Given the description of an element on the screen output the (x, y) to click on. 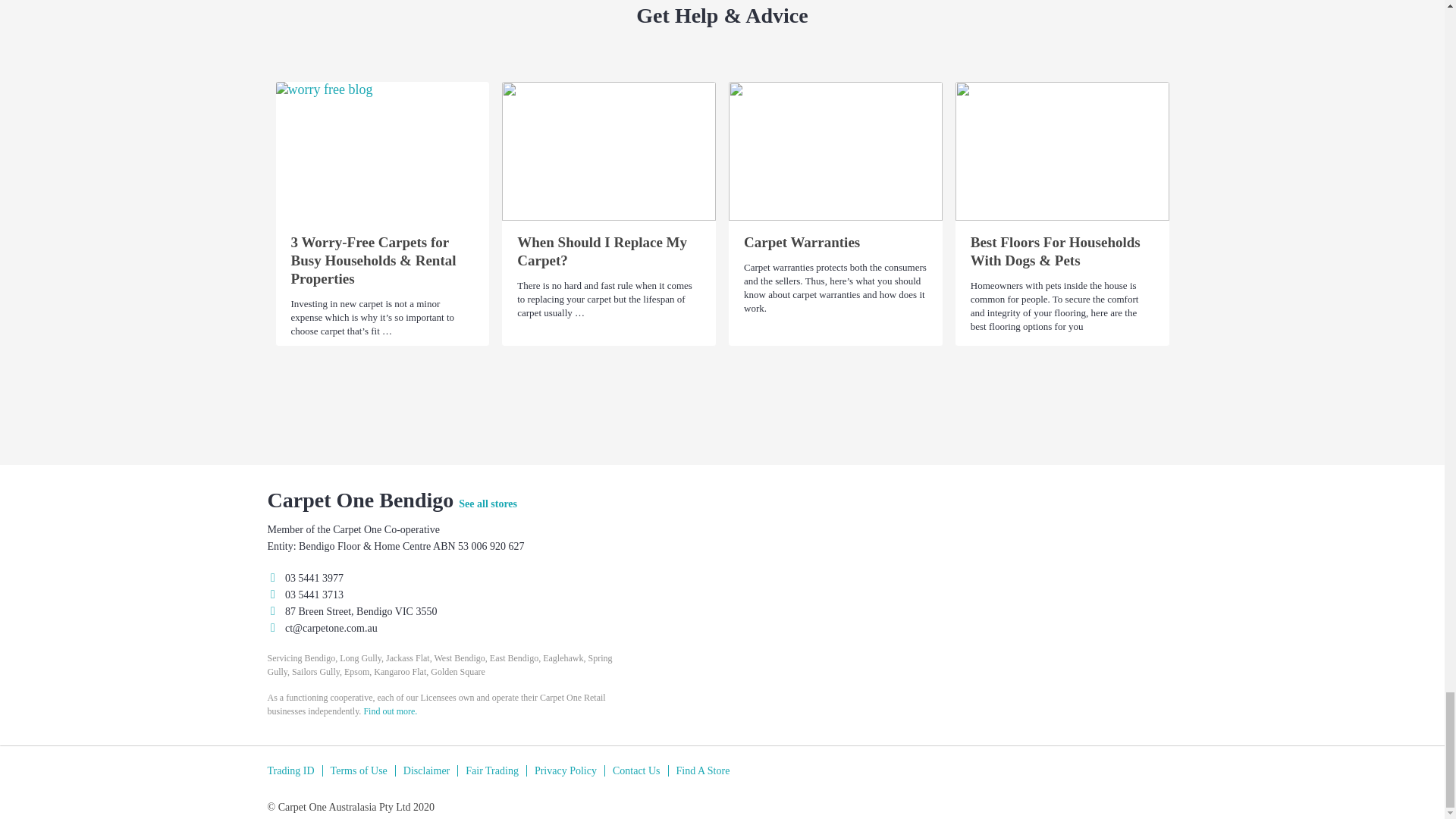
Trading ID (293, 770)
Carpet Warranties (835, 150)
When Should I Replace My Carpet? (609, 150)
